Given the description of an element on the screen output the (x, y) to click on. 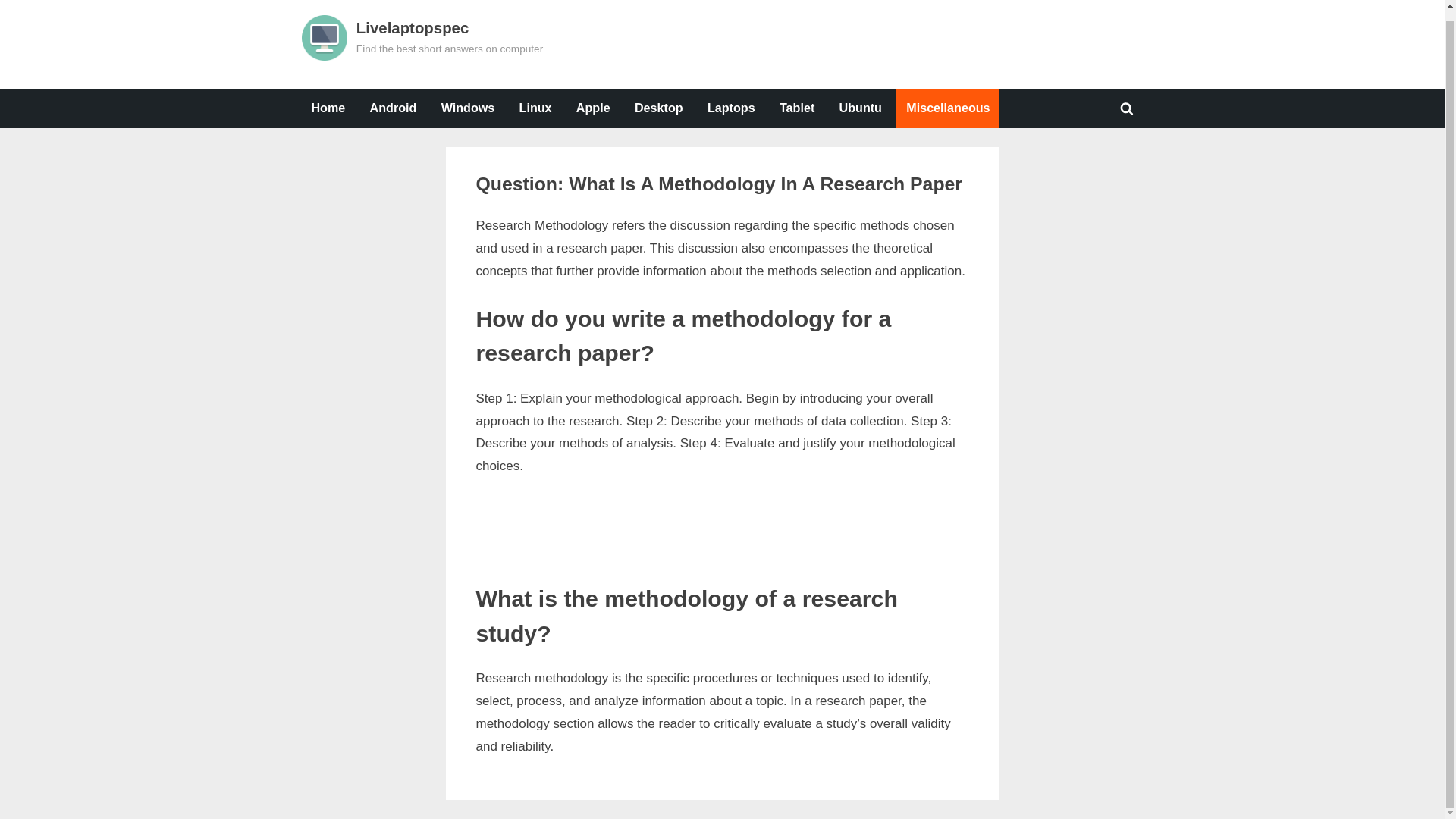
Livelaptopspec (412, 27)
Desktop (658, 107)
Home (328, 107)
Android (392, 107)
Tablet (537, 216)
Laptops (797, 107)
Linux (731, 107)
Ubuntu (535, 107)
Apple (860, 107)
Windows (593, 107)
Miscellaneous (467, 107)
Toggle search form (508, 216)
